Given the description of an element on the screen output the (x, y) to click on. 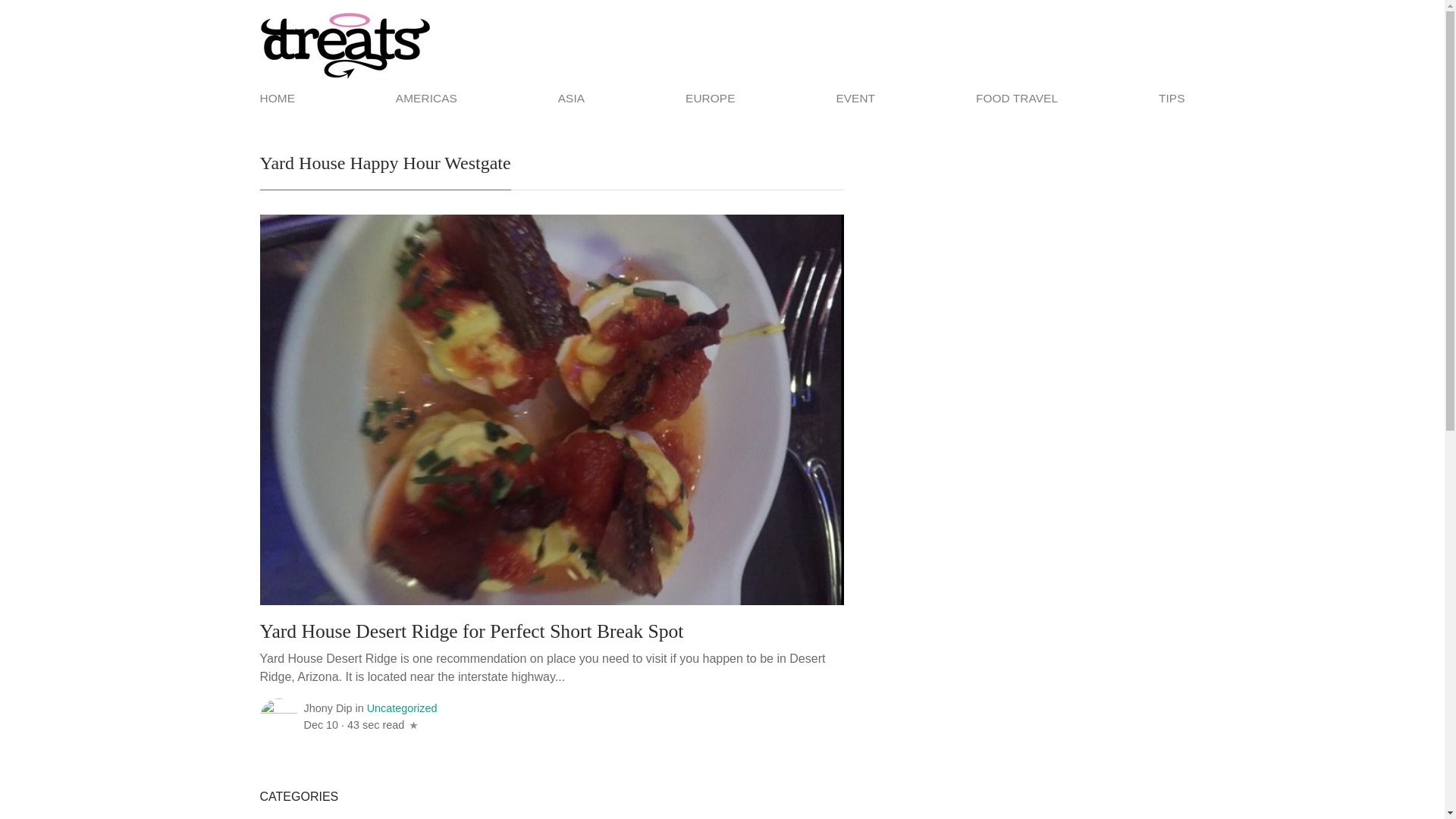
FOOD TRAVEL (1016, 98)
Yard House Desert Ridge for Perfect Short Break Spot (470, 632)
ASIA (571, 98)
HOME (279, 98)
AMERICAS (426, 98)
EUROPE (710, 98)
Uncategorized (402, 707)
EVENT (854, 98)
Jhony Dip (327, 707)
